Given the description of an element on the screen output the (x, y) to click on. 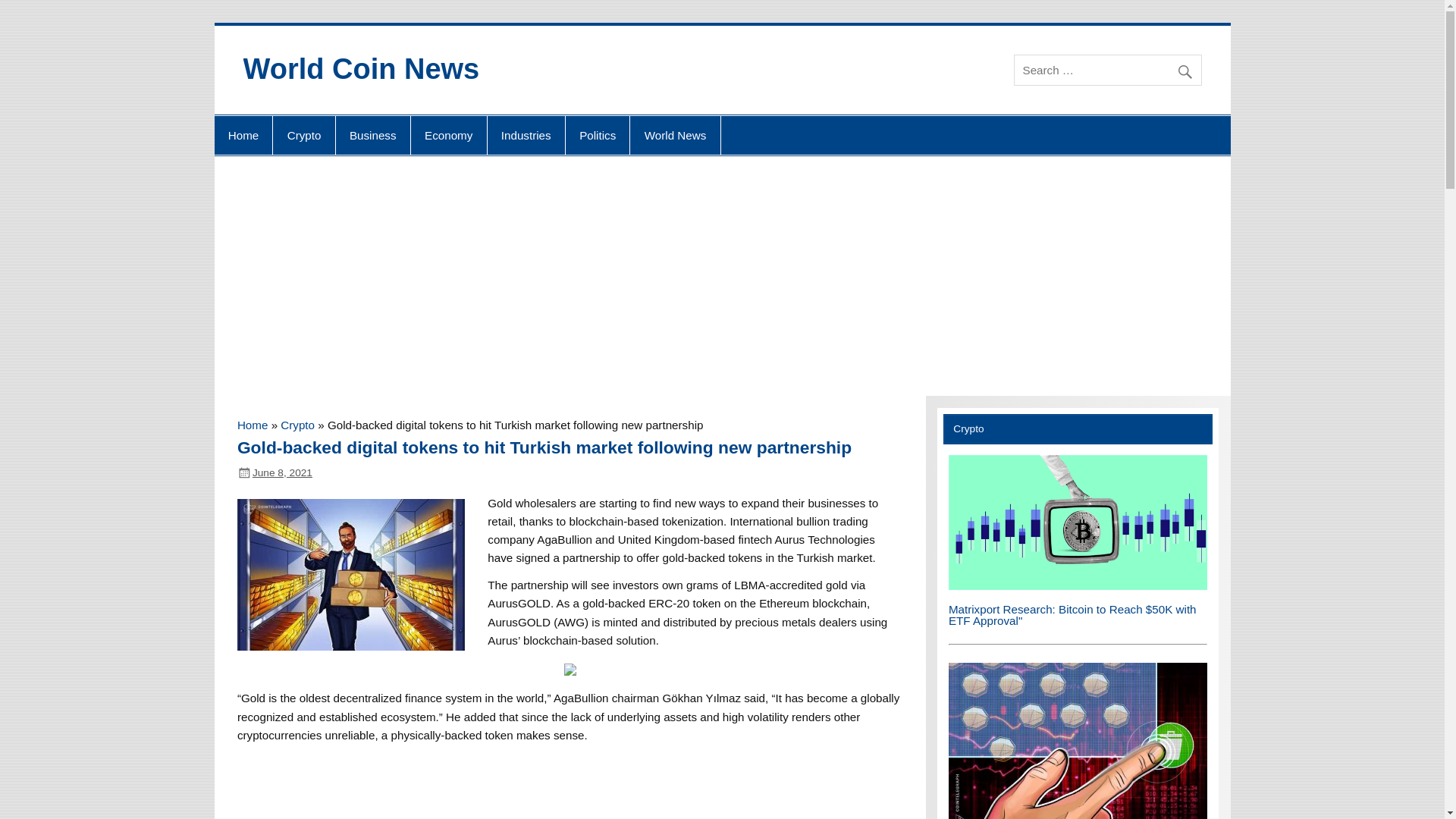
10:11 am (282, 472)
Industries (525, 135)
Business (373, 135)
World Coin News (361, 69)
Crypto (303, 135)
Crypto (297, 424)
Politics (598, 135)
World News (674, 135)
June 8, 2021 (282, 472)
Home (252, 424)
